Given the description of an element on the screen output the (x, y) to click on. 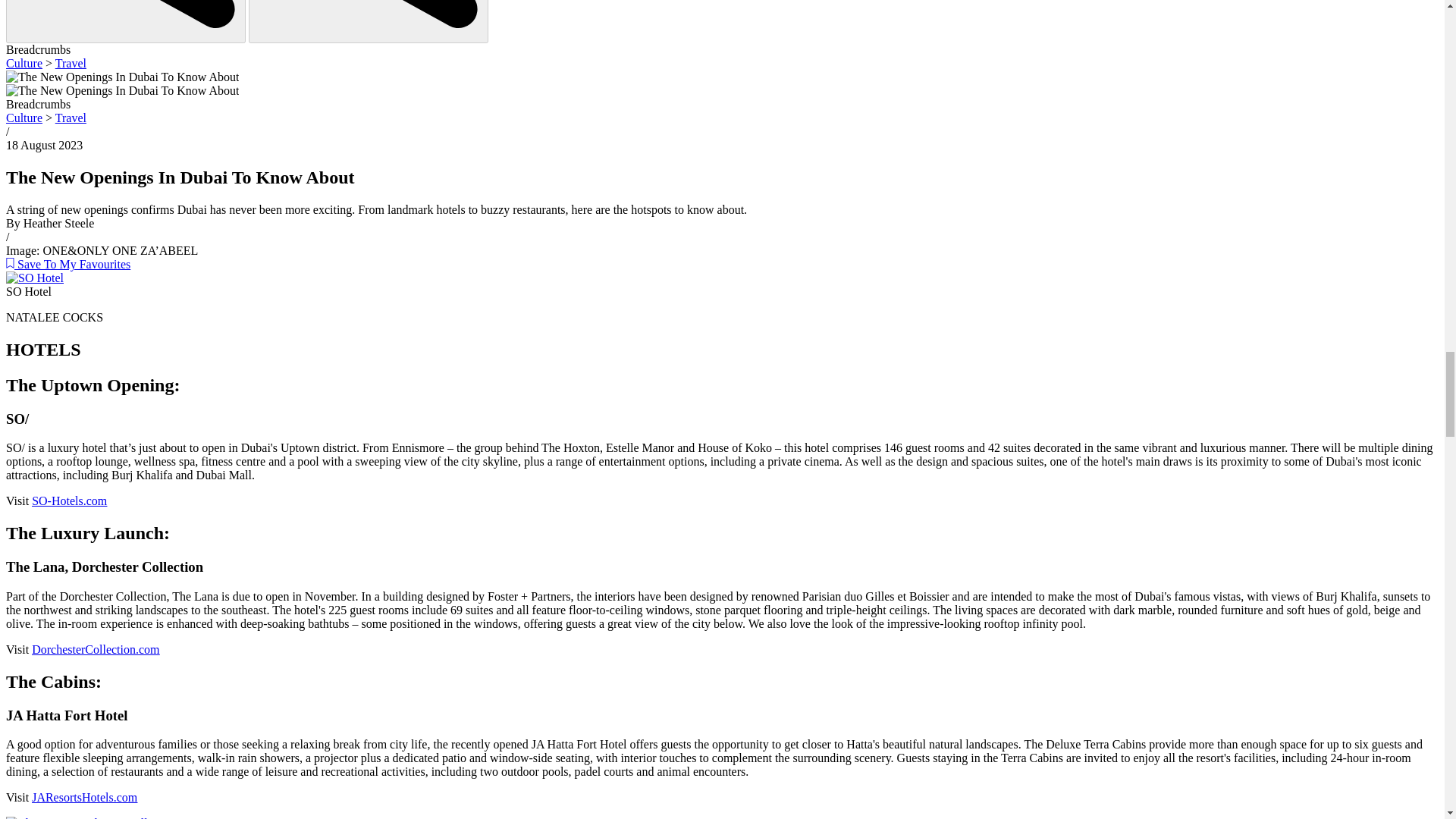
Add article to my favourites (68, 264)
